Given the description of an element on the screen output the (x, y) to click on. 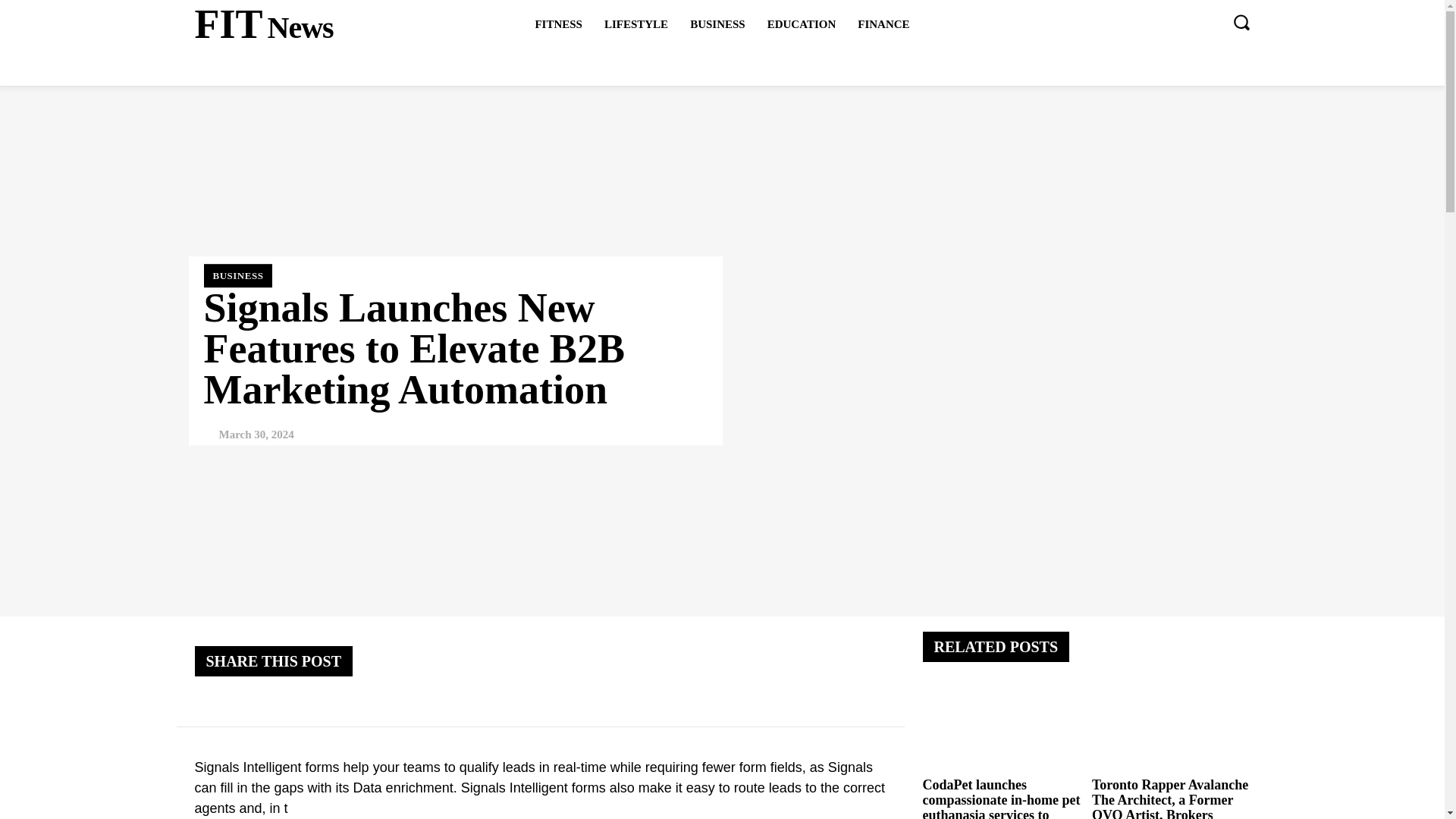
BUSINESS (717, 24)
FITNESS (558, 24)
FINANCE (263, 24)
LIFESTYLE (883, 24)
EDUCATION (636, 24)
BUSINESS (801, 24)
